Given the description of an element on the screen output the (x, y) to click on. 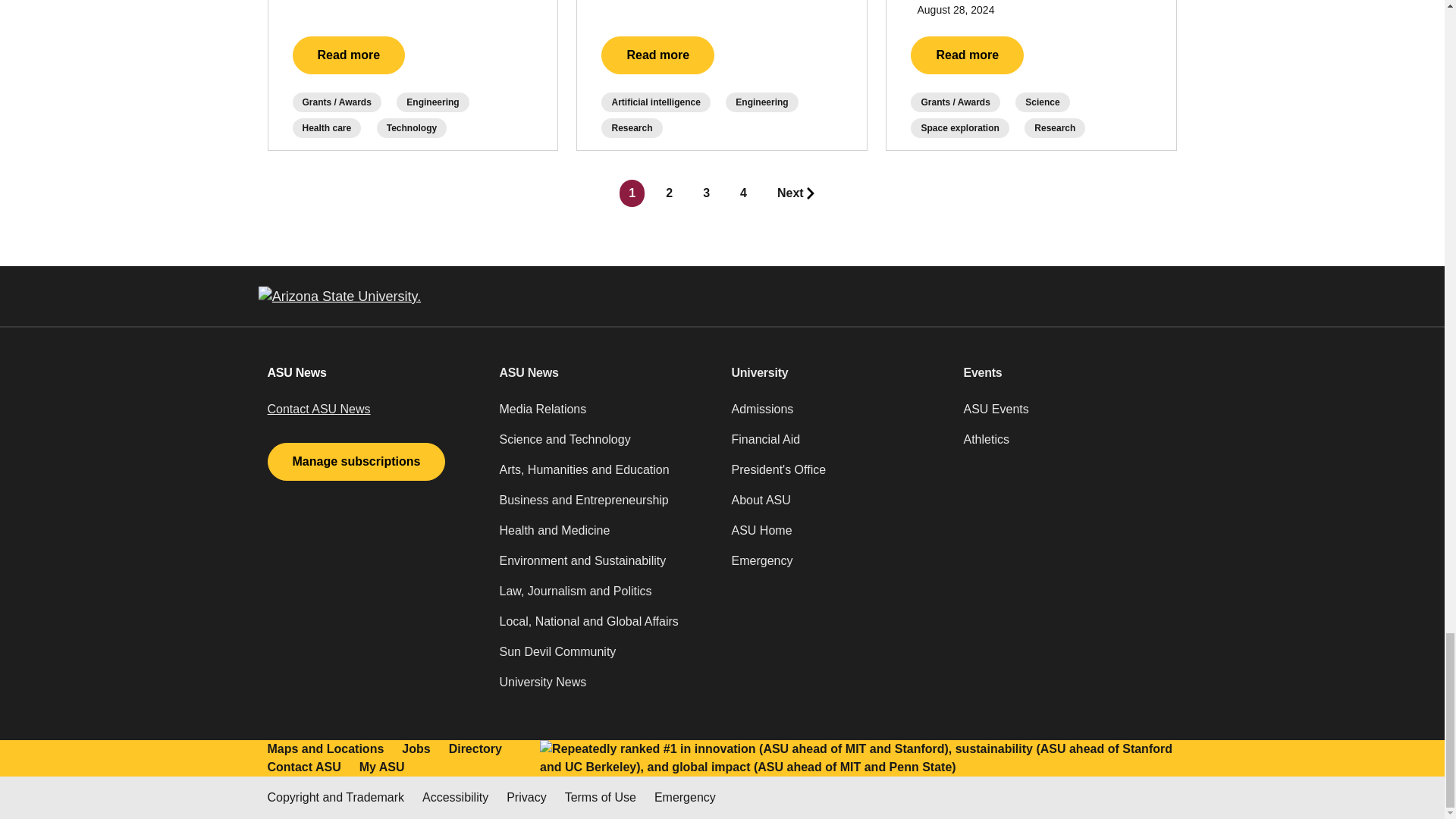
Go to page 4 (742, 193)
Current page (632, 193)
Read more (657, 55)
Technology (411, 127)
Health care (326, 127)
Read more (349, 55)
Engineering (761, 102)
Go to last page (796, 193)
Science (1041, 102)
Go to page 3 (706, 193)
